Given the description of an element on the screen output the (x, y) to click on. 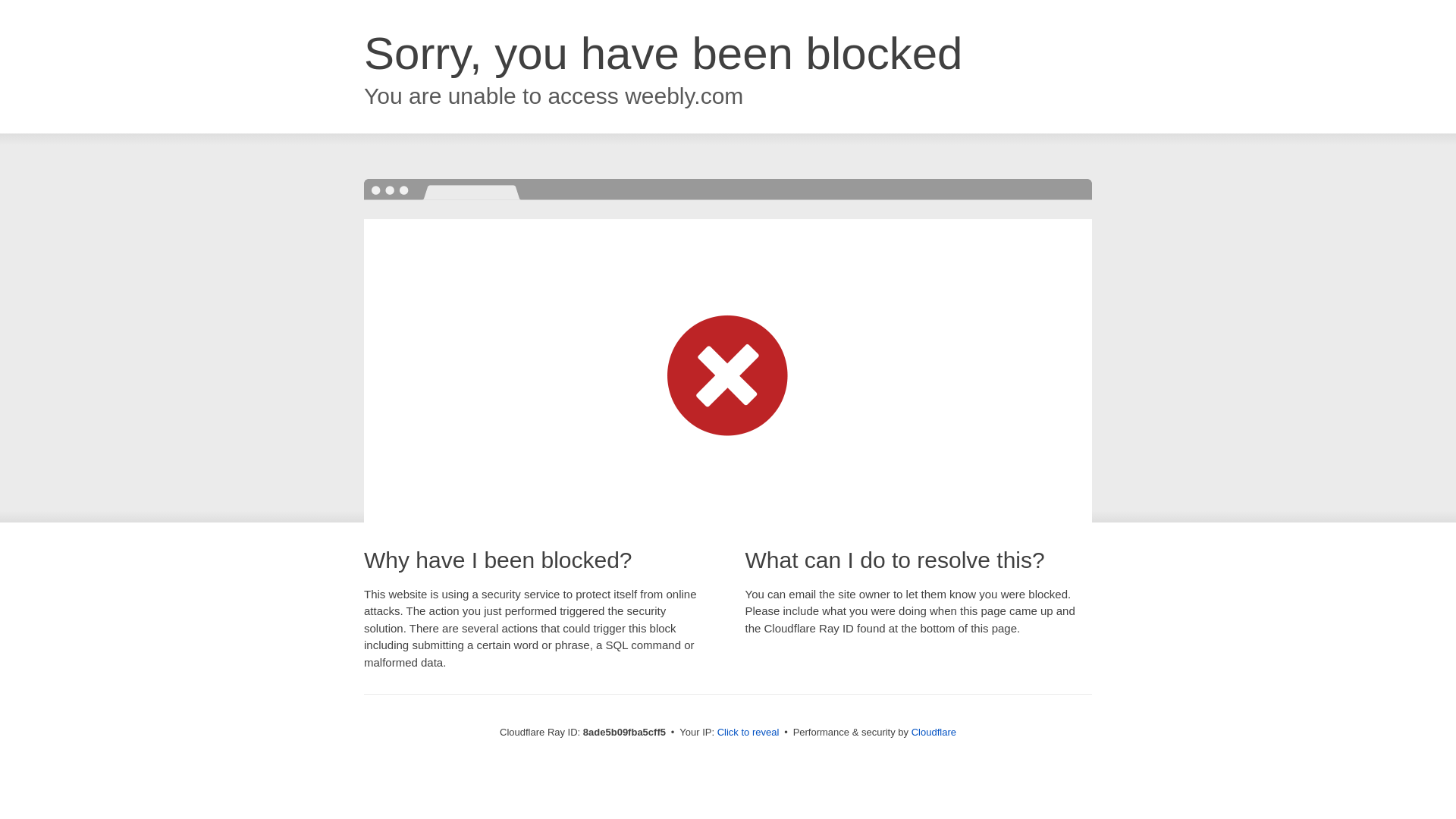
Click to reveal (747, 732)
Cloudflare (933, 731)
